Given the description of an element on the screen output the (x, y) to click on. 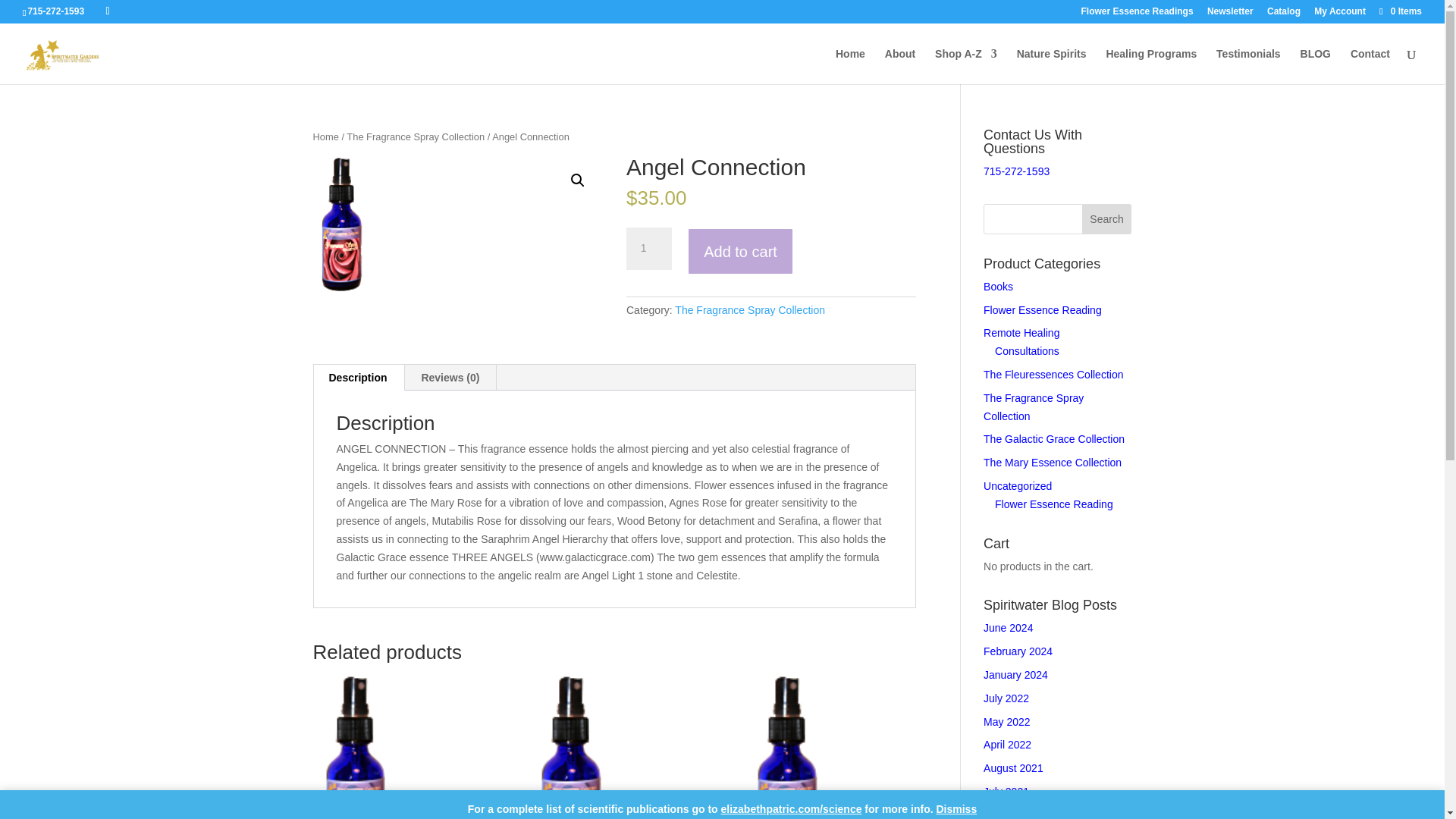
Flower Essence Readings (1137, 14)
Newsletter (1230, 14)
1 (648, 248)
Contact (1370, 66)
Shop A-Z (965, 66)
0 Items (1399, 10)
715-272-1593 (55, 10)
Testimonials (1248, 66)
Healing Programs (1150, 66)
Nature Spirits (1051, 66)
Catalog (1283, 14)
My Account (1339, 14)
Search (1106, 218)
